Given the description of an element on the screen output the (x, y) to click on. 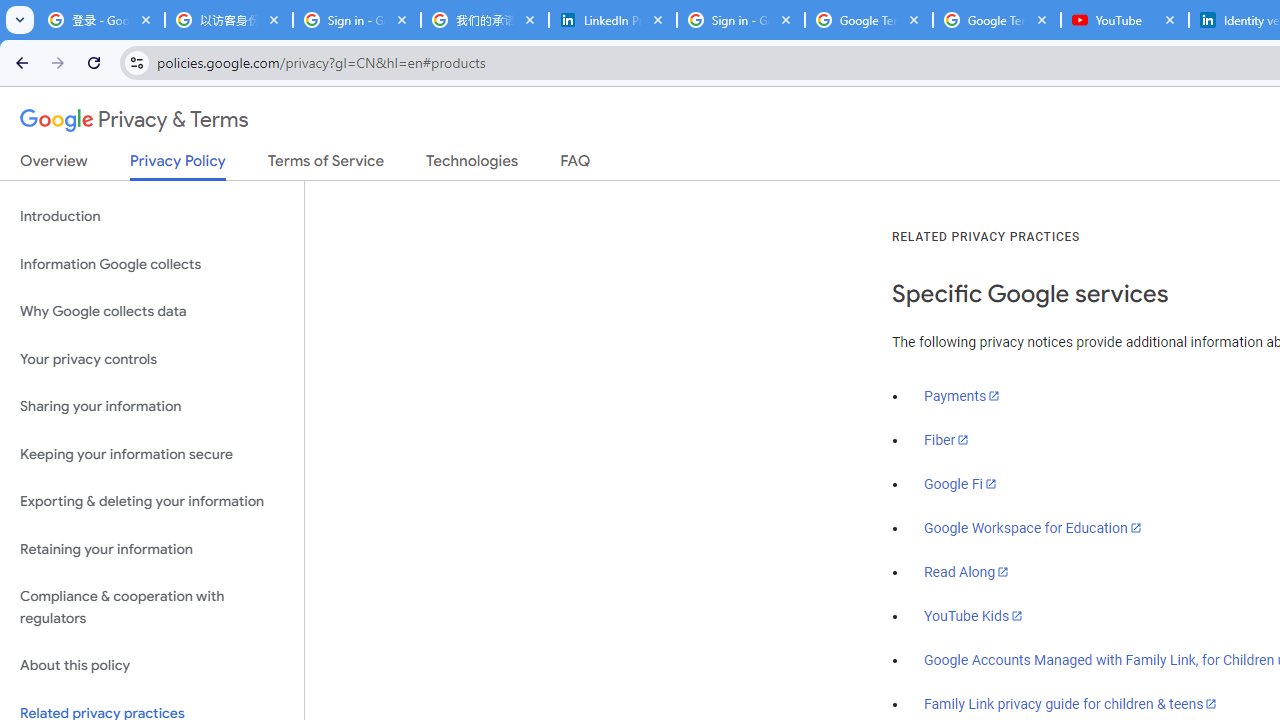
Retaining your information (152, 548)
Exporting & deleting your information (152, 502)
LinkedIn Privacy Policy (613, 20)
Compliance & cooperation with regulators (152, 607)
Family Link privacy guide for children & teens (1071, 703)
Technologies (472, 165)
Read Along (966, 572)
